Given the description of an element on the screen output the (x, y) to click on. 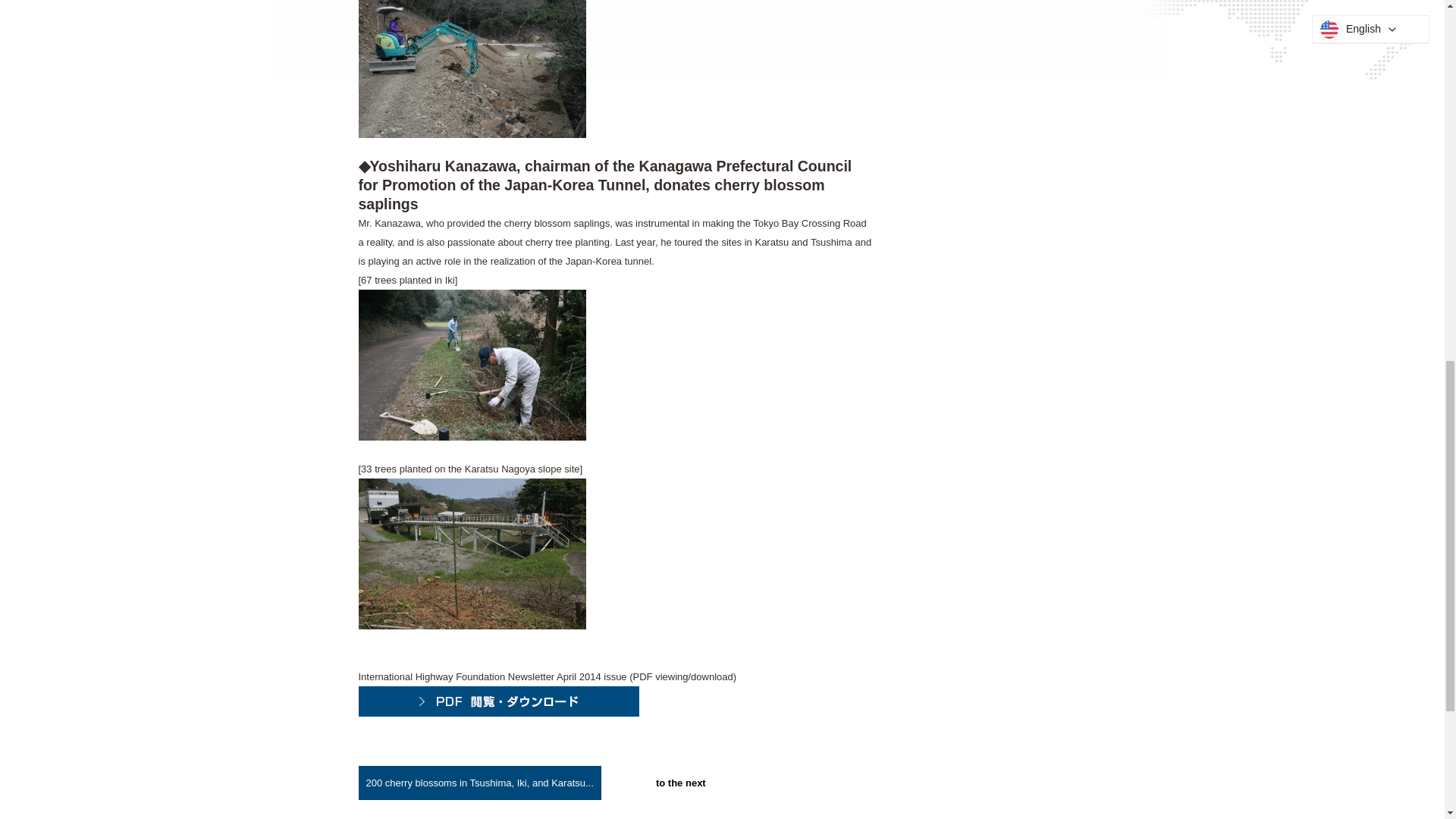
International Highway Foundation Newsletter April 2014 issue (498, 713)
to the next (680, 782)
